Given the description of an element on the screen output the (x, y) to click on. 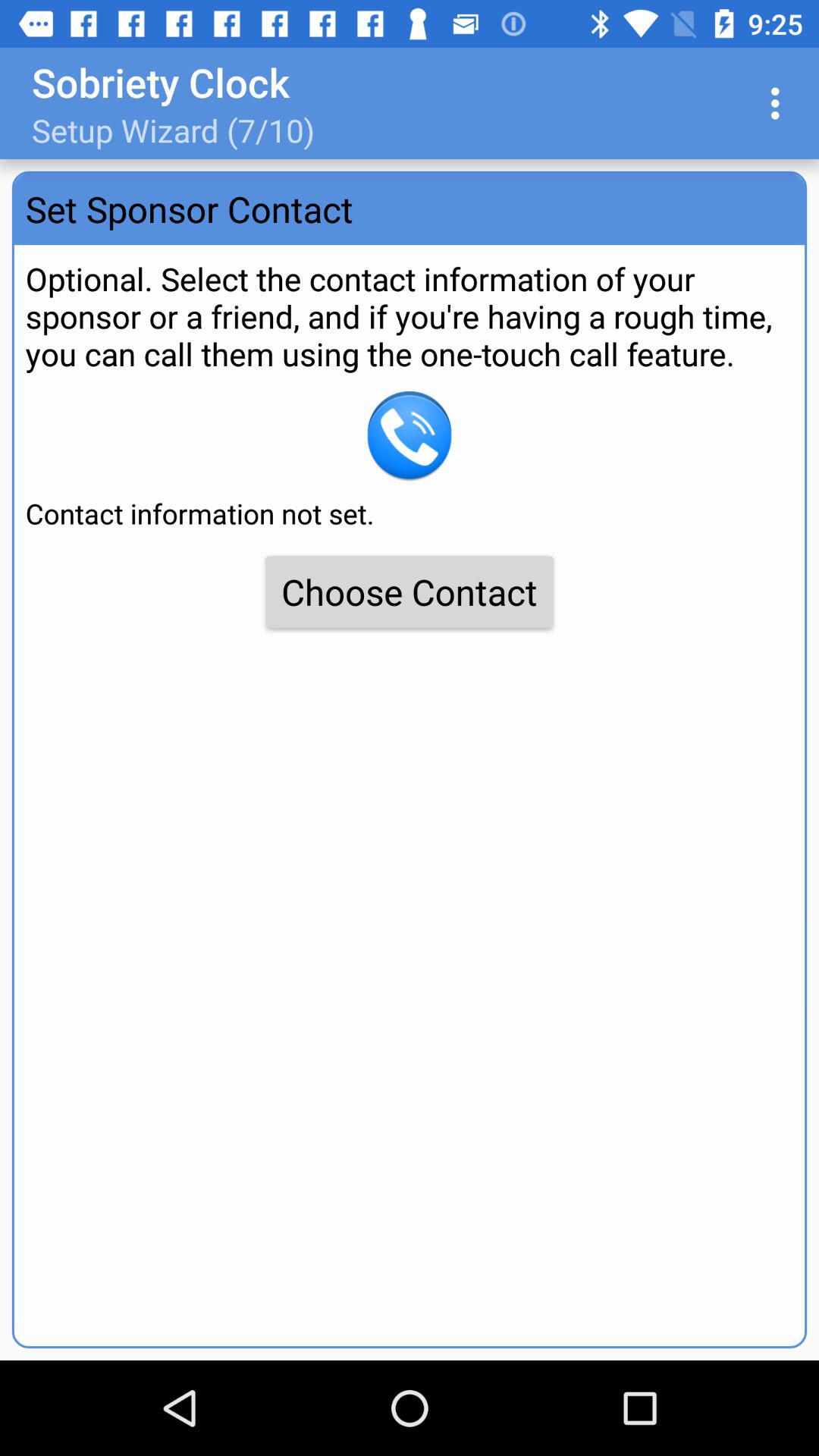
launch the item at the center (409, 591)
